Given the description of an element on the screen output the (x, y) to click on. 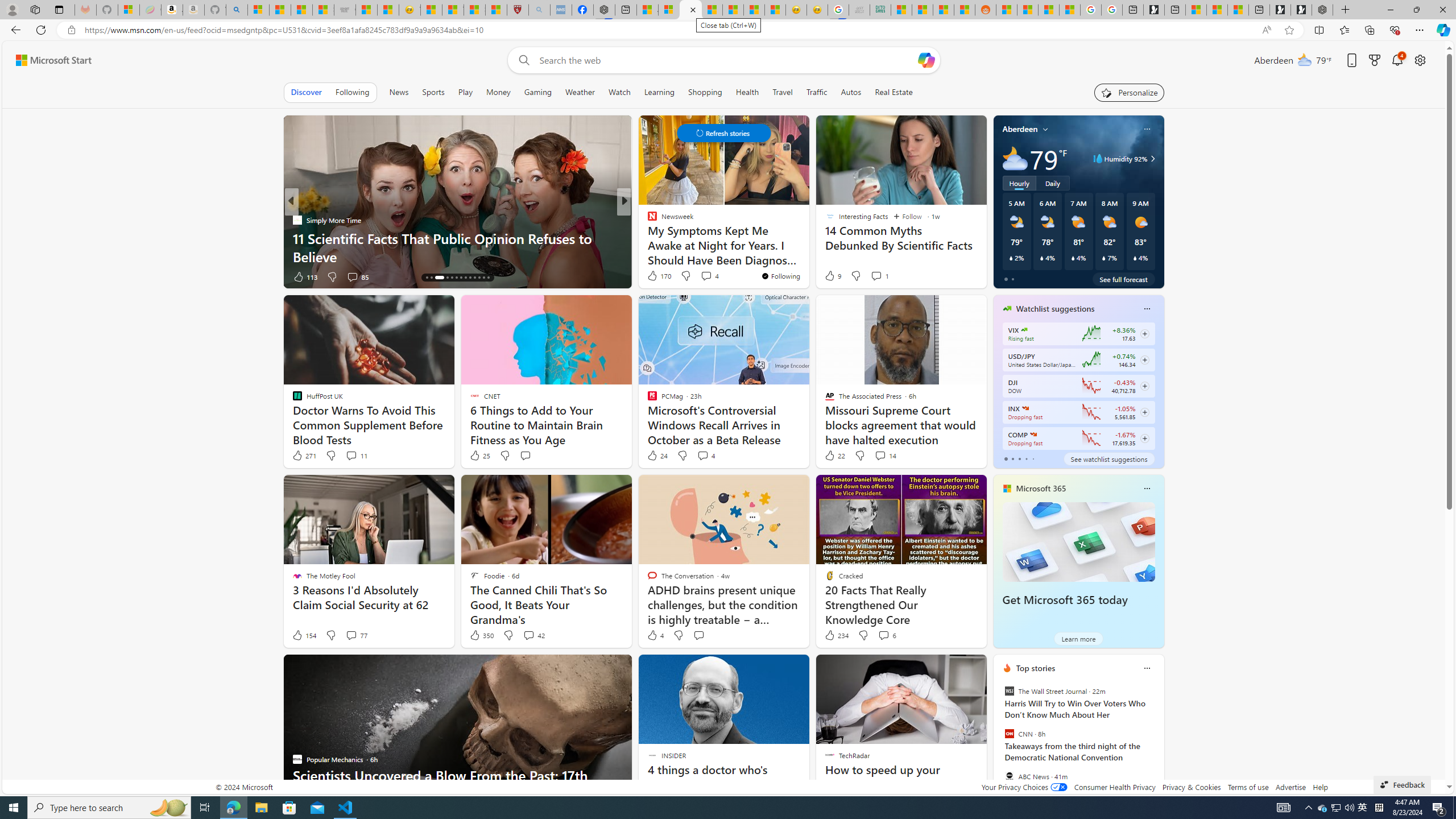
View comments 1 Comment (876, 275)
View comments 77 Comment (355, 634)
Play (465, 92)
76 Like (652, 276)
Daily (1052, 183)
NASDAQ (1032, 434)
View comments 5 Comment (702, 276)
View comments 2 Comment (6, 276)
